Given the description of an element on the screen output the (x, y) to click on. 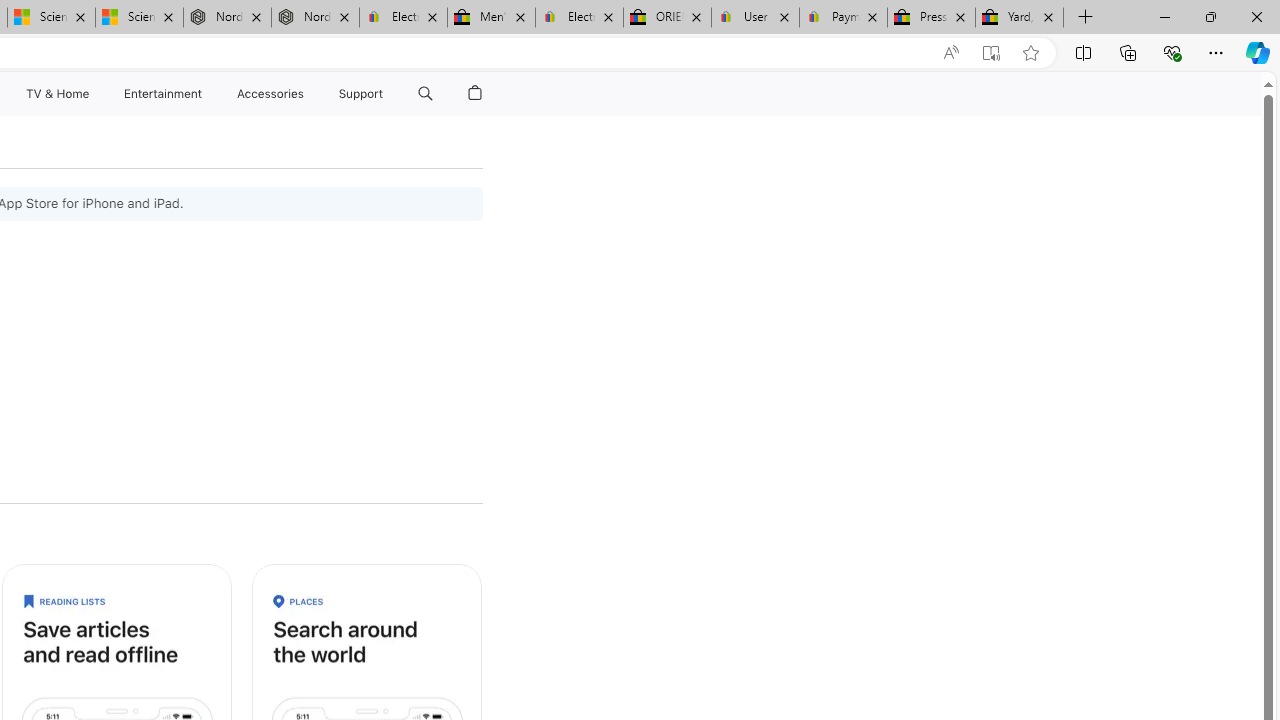
Yard, Garden & Outdoor Living (1019, 17)
Class: globalnav-submenu-trigger-item (387, 93)
Shopping Bag (475, 93)
AutomationID: globalnav-bag (475, 93)
Accessories (269, 93)
Entertainment menu (205, 93)
